Given the description of an element on the screen output the (x, y) to click on. 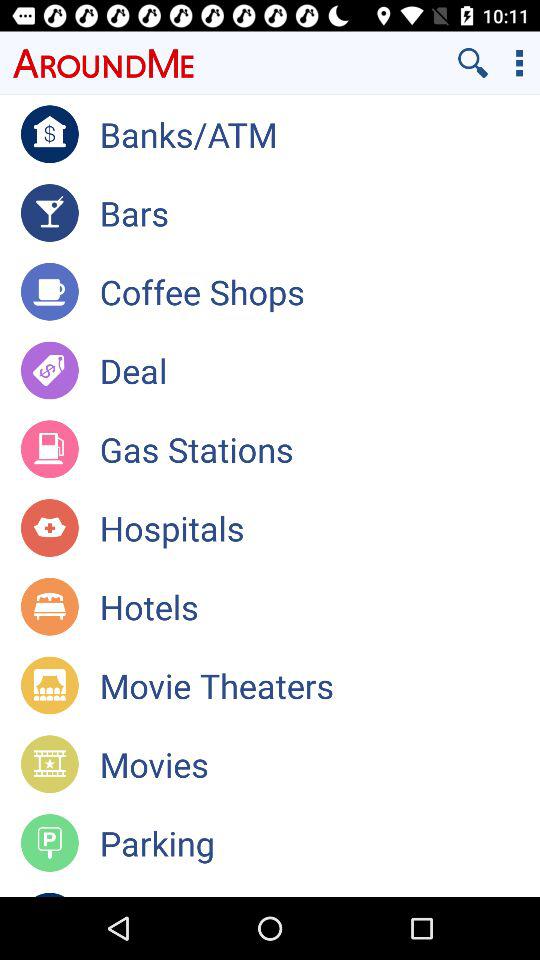
launch icon above the coffee shops item (319, 212)
